Given the description of an element on the screen output the (x, y) to click on. 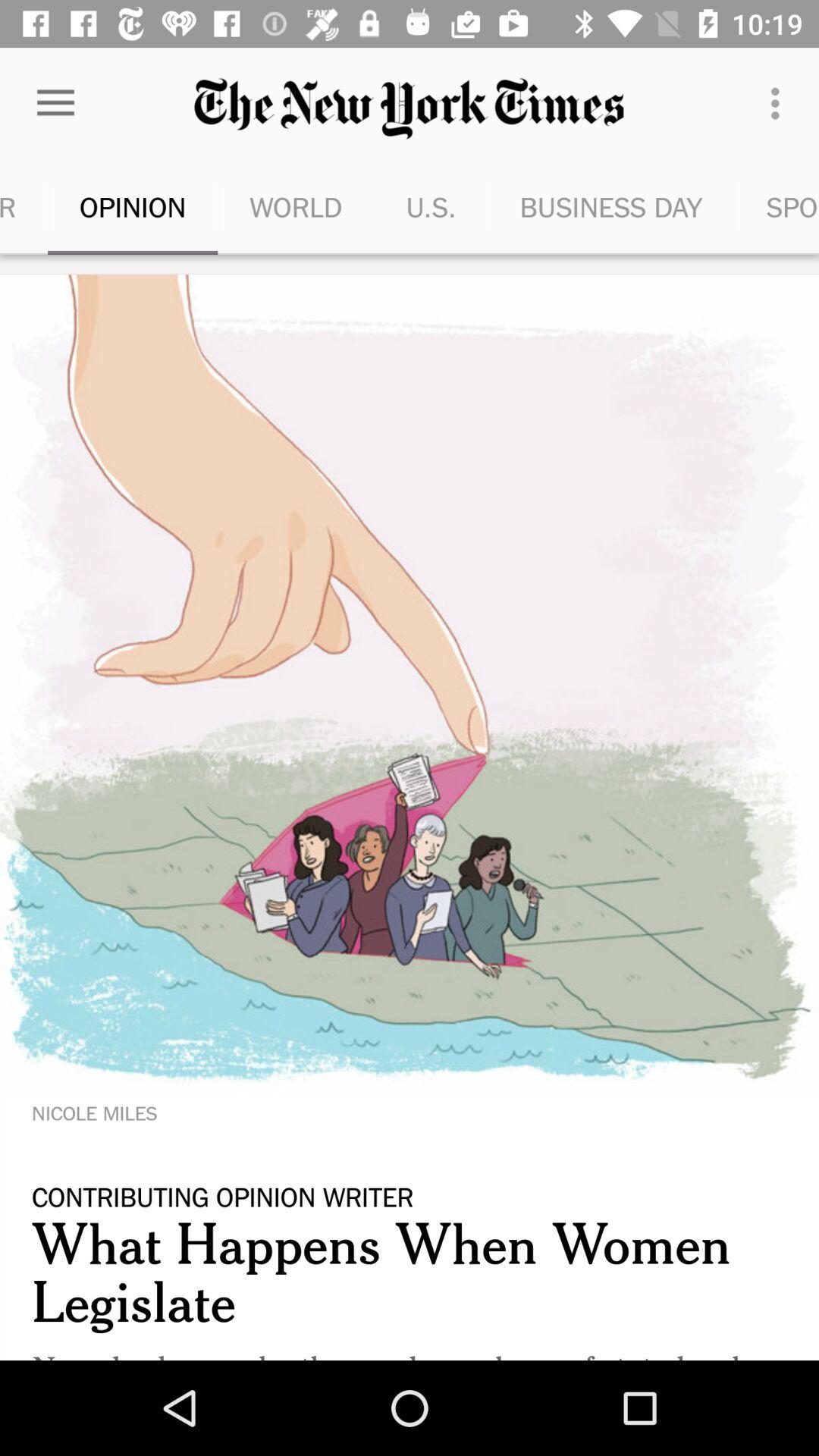
choose the item above the most popular (55, 103)
